Given the description of an element on the screen output the (x, y) to click on. 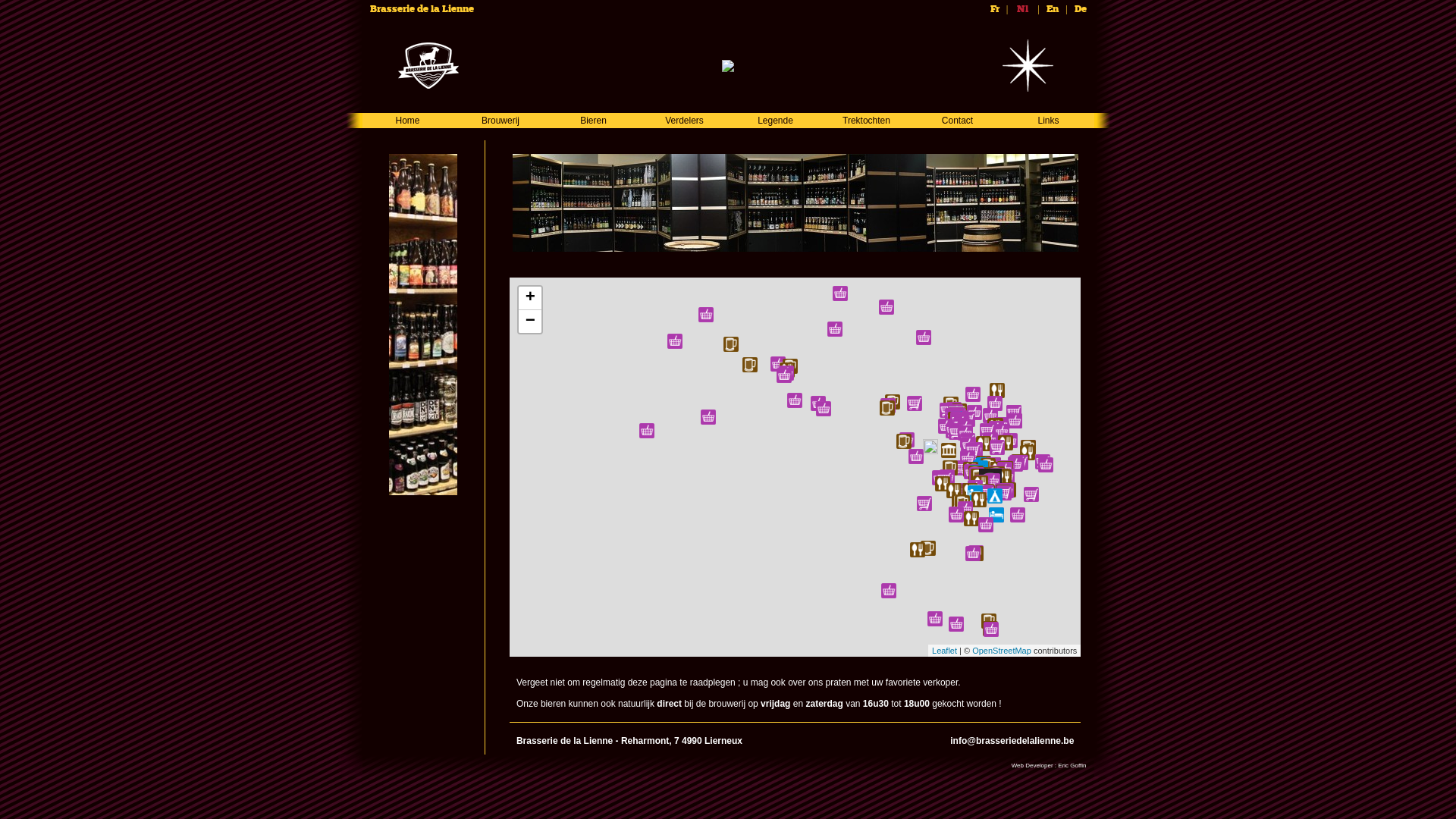
Contact Element type: text (956, 120)
Legende Element type: text (775, 120)
Home Element type: text (407, 120)
+ Element type: text (529, 298)
Bieren Element type: text (593, 120)
Verdelers Element type: text (683, 120)
Fr Element type: text (994, 8)
Brouwerij Element type: text (500, 120)
Brasserie de la Lienne Element type: text (421, 8)
OpenStreetMap Element type: text (1001, 650)
Eric Goffin Element type: text (1071, 765)
De Element type: text (1079, 8)
Trektochten Element type: text (865, 120)
Bieren Element type: text (592, 120)
Links Element type: text (1047, 120)
Home Element type: text (407, 120)
Legende Element type: text (774, 120)
Links Element type: text (1047, 120)
Leaflet Element type: text (944, 650)
En Element type: text (1052, 8)
Verdelers Element type: text (684, 120)
Contact Element type: text (956, 120)
info@brasseriedelalienne.be Element type: text (1011, 740)
